Given the description of an element on the screen output the (x, y) to click on. 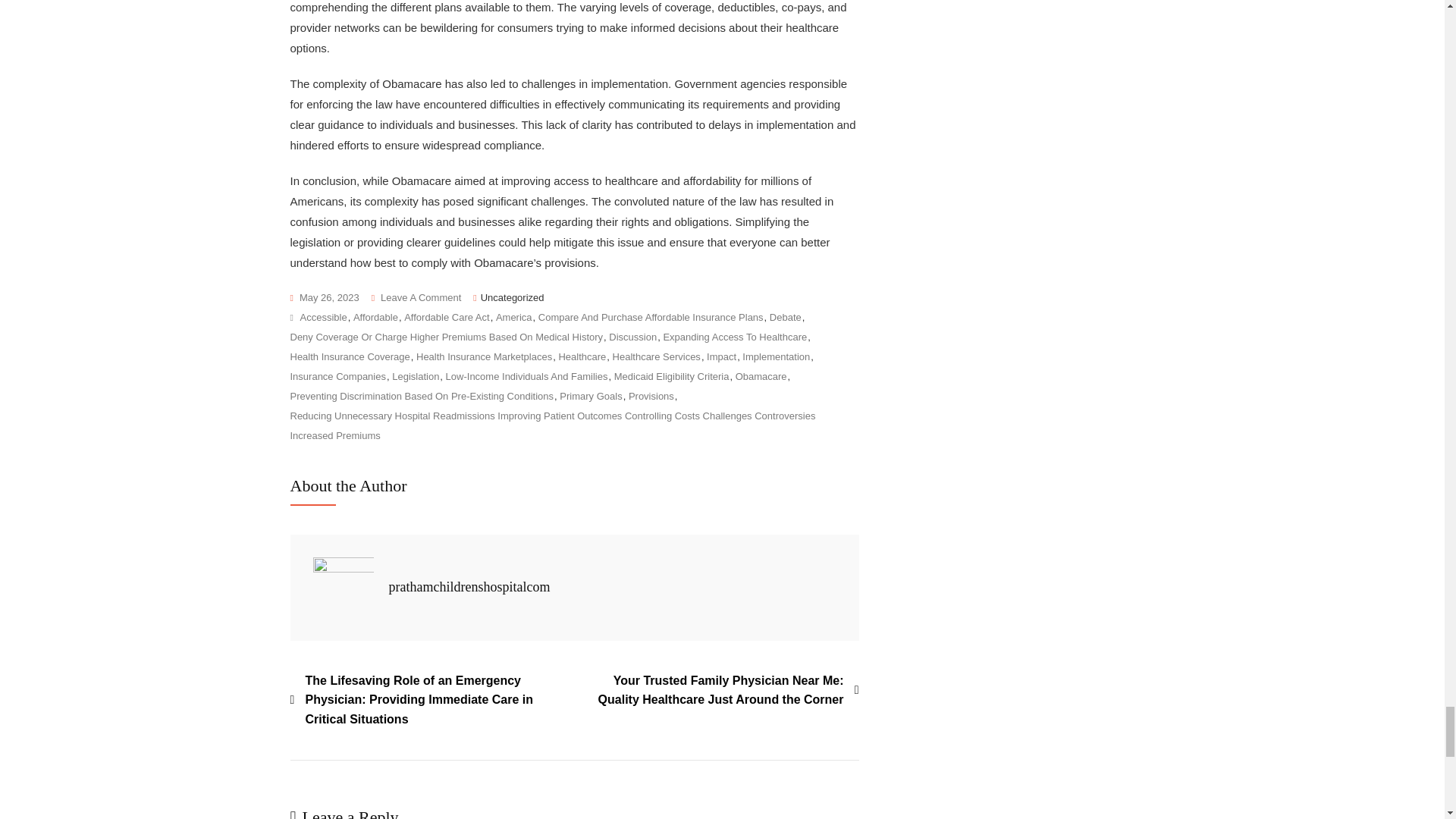
Affordable (375, 317)
Compare And Purchase Affordable Insurance Plans (650, 317)
Debate (786, 317)
May 26, 2023 (323, 297)
Accessible (323, 317)
Expanding Access To Healthcare (734, 337)
America (514, 317)
Affordable Care Act (446, 317)
Discussion (632, 337)
